Given the description of an element on the screen output the (x, y) to click on. 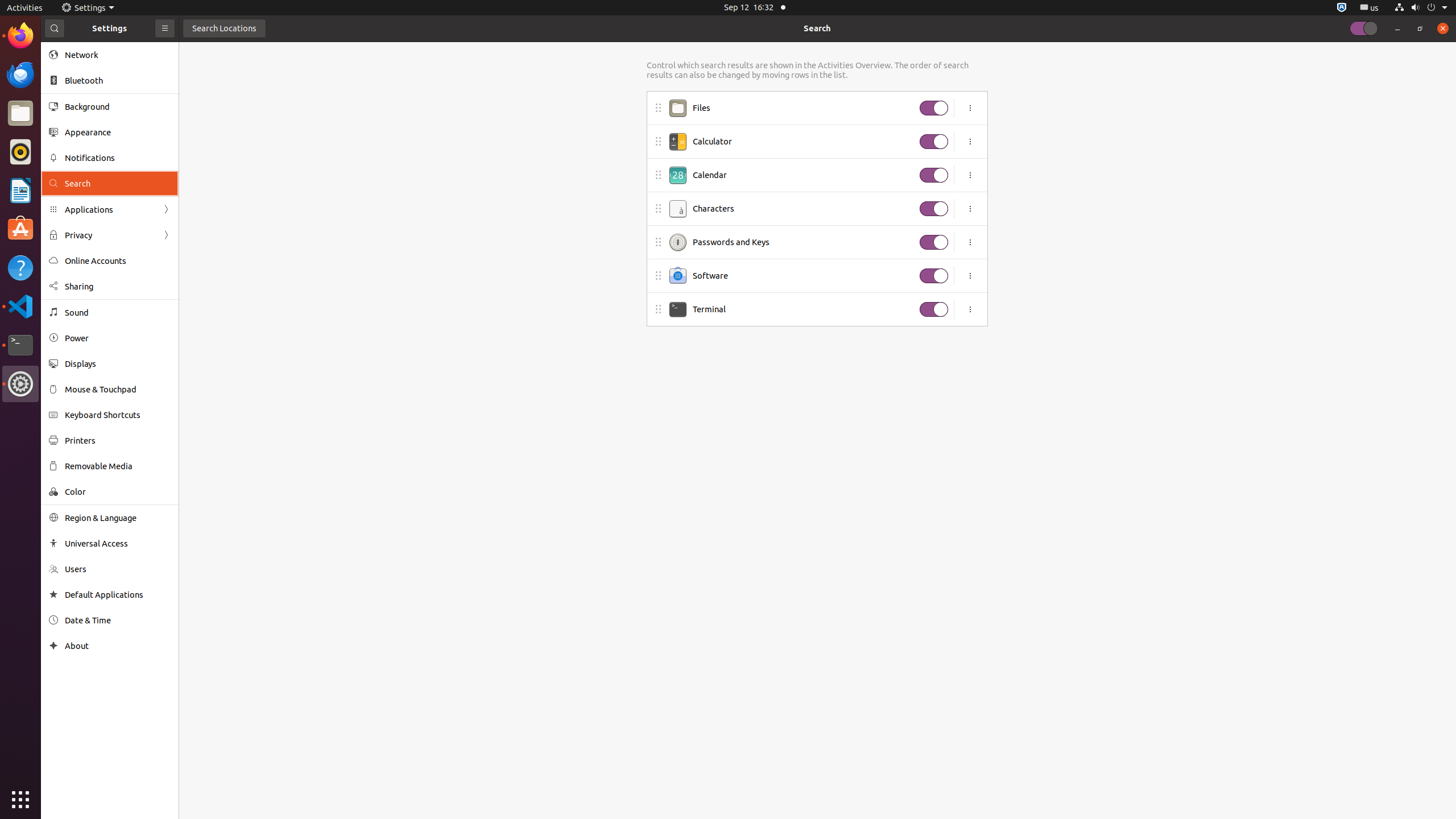
Bluetooth Element type: label (117, 80)
Menu Element type: toggle-button (970, 309)
Region & Language Element type: label (117, 517)
Calculator Element type: label (802, 141)
